Given the description of an element on the screen output the (x, y) to click on. 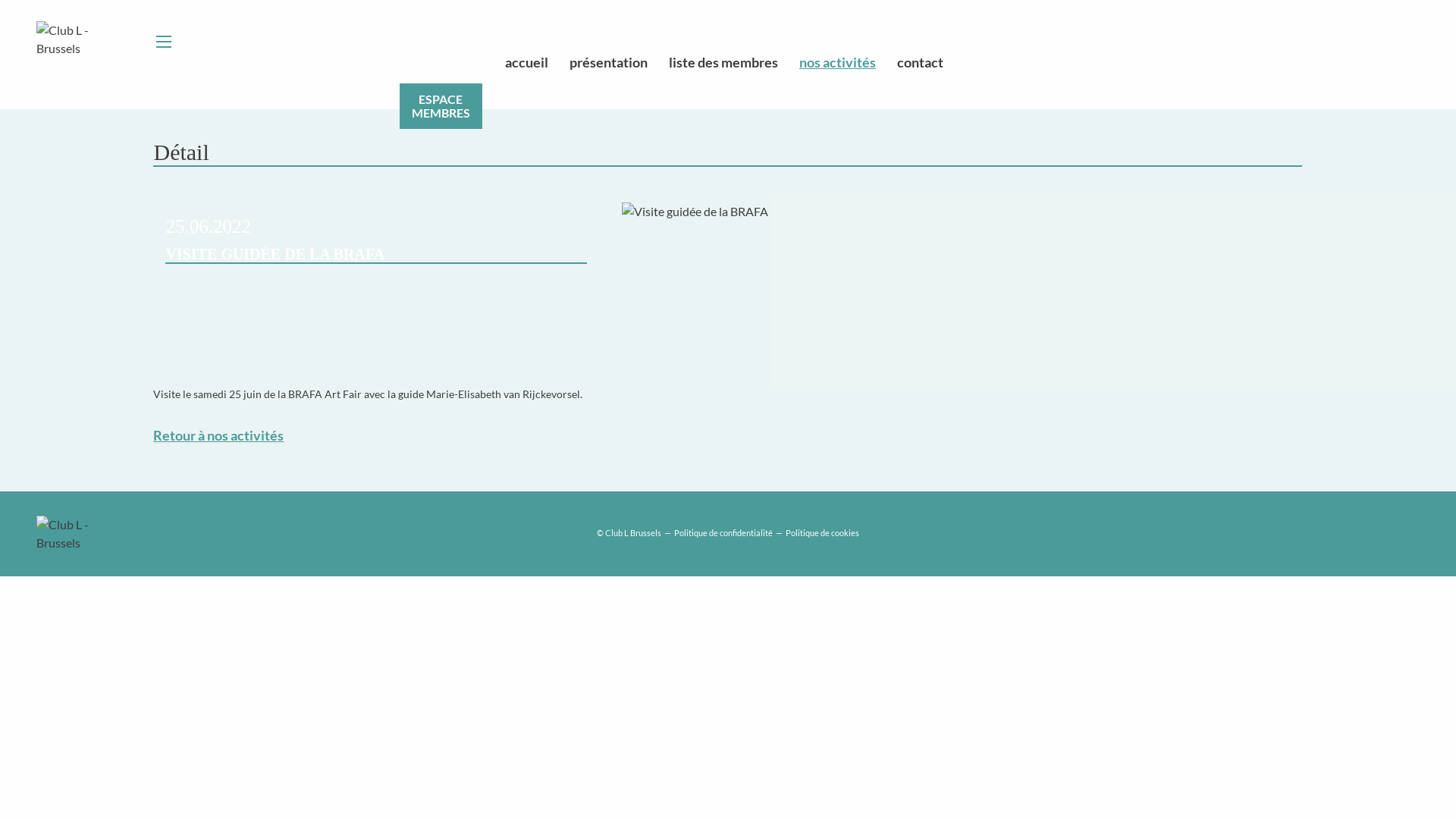
liste des membres Element type: text (724, 62)
contact Element type: text (921, 62)
accueil Element type: text (532, 62)
Politique de cookies Element type: text (822, 533)
ESPACE
MEMBRES Element type: text (440, 105)
